Given the description of an element on the screen output the (x, y) to click on. 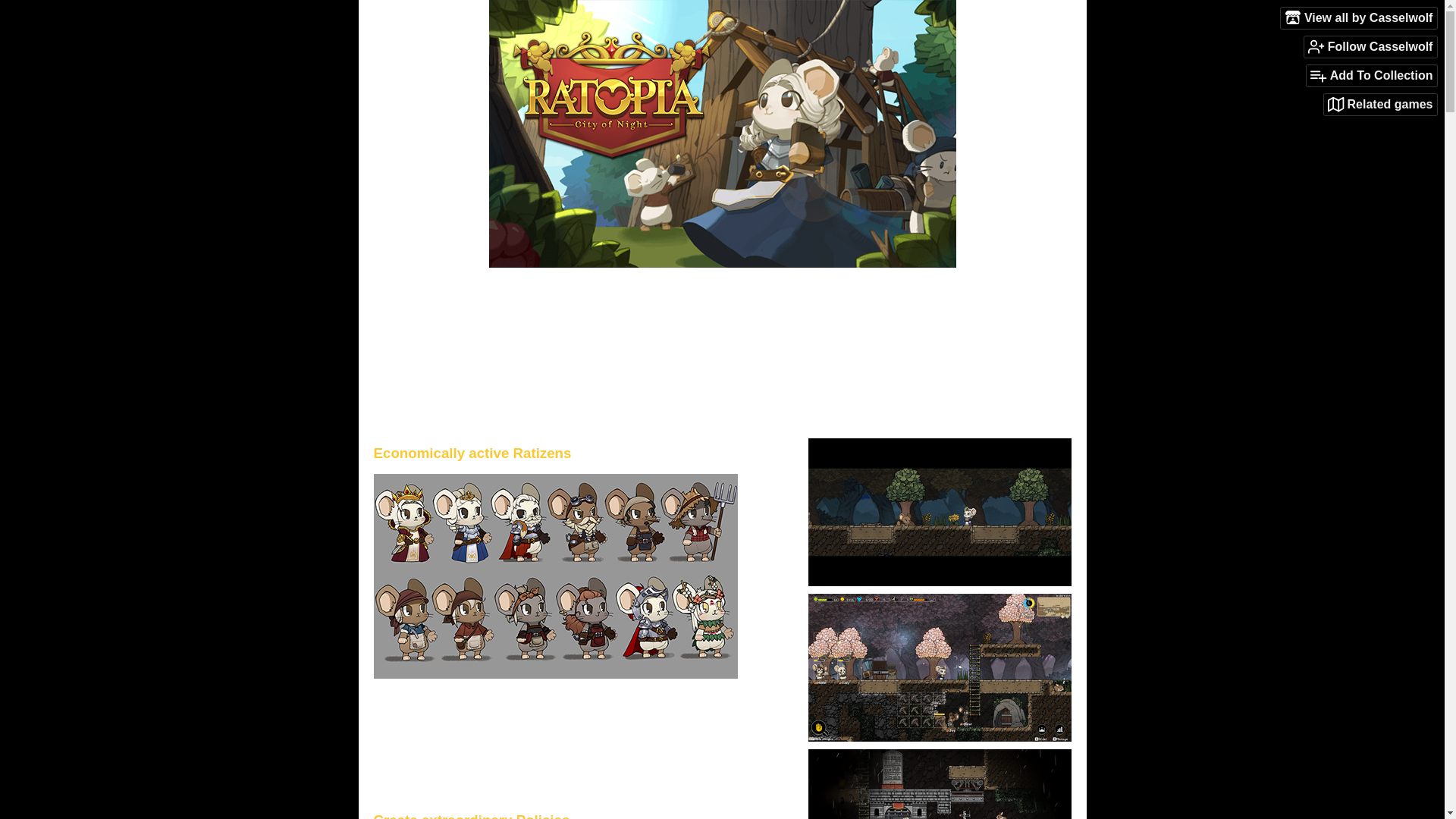
Add To Collection (1371, 75)
View all by Casselwolf (1359, 17)
Related games (1380, 104)
Follow Casselwolf (1370, 46)
